Given the description of an element on the screen output the (x, y) to click on. 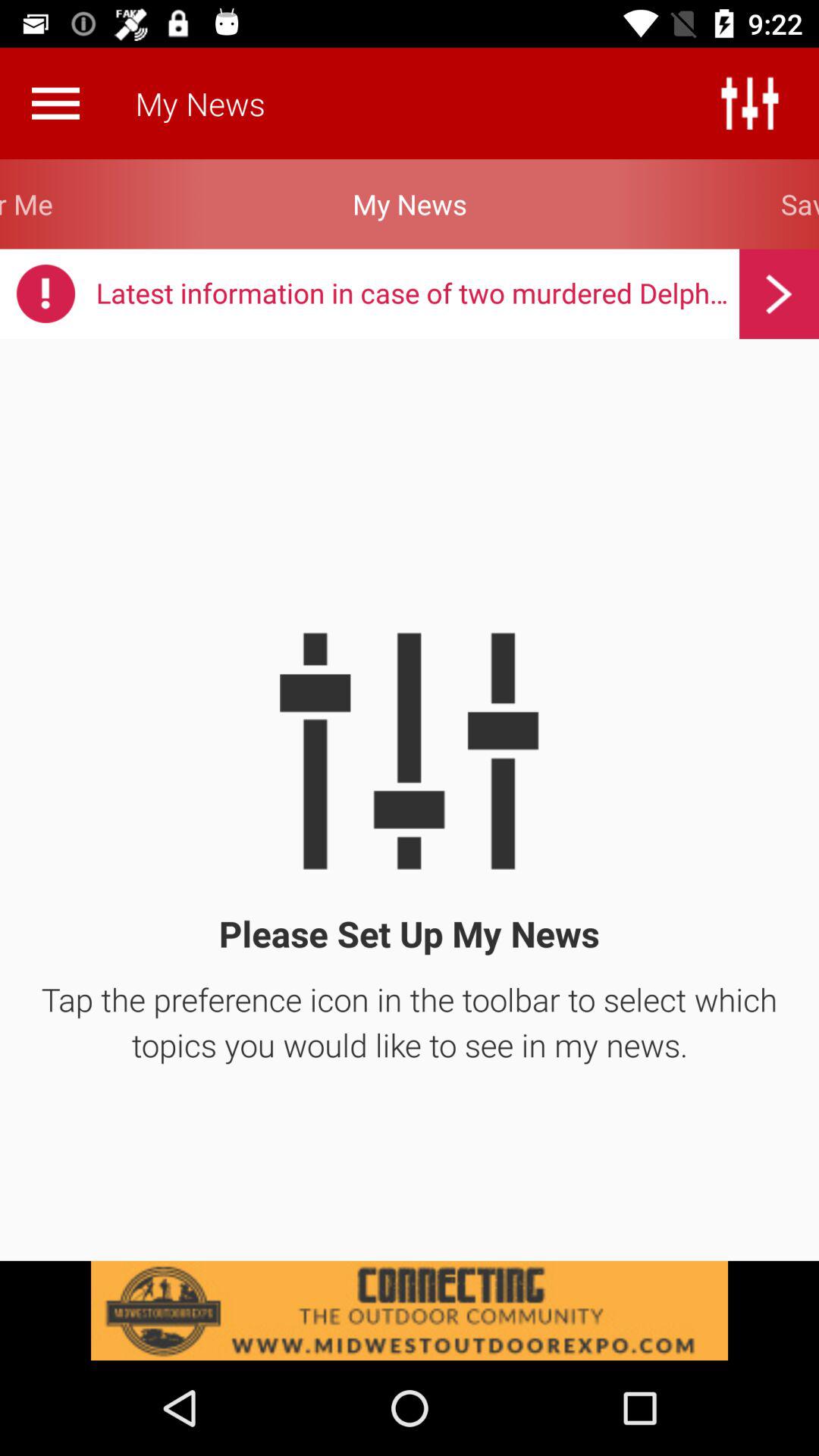
click the button below the text me on the web page (45, 293)
click on the button at the top right corner of the page (749, 103)
